Given the description of an element on the screen output the (x, y) to click on. 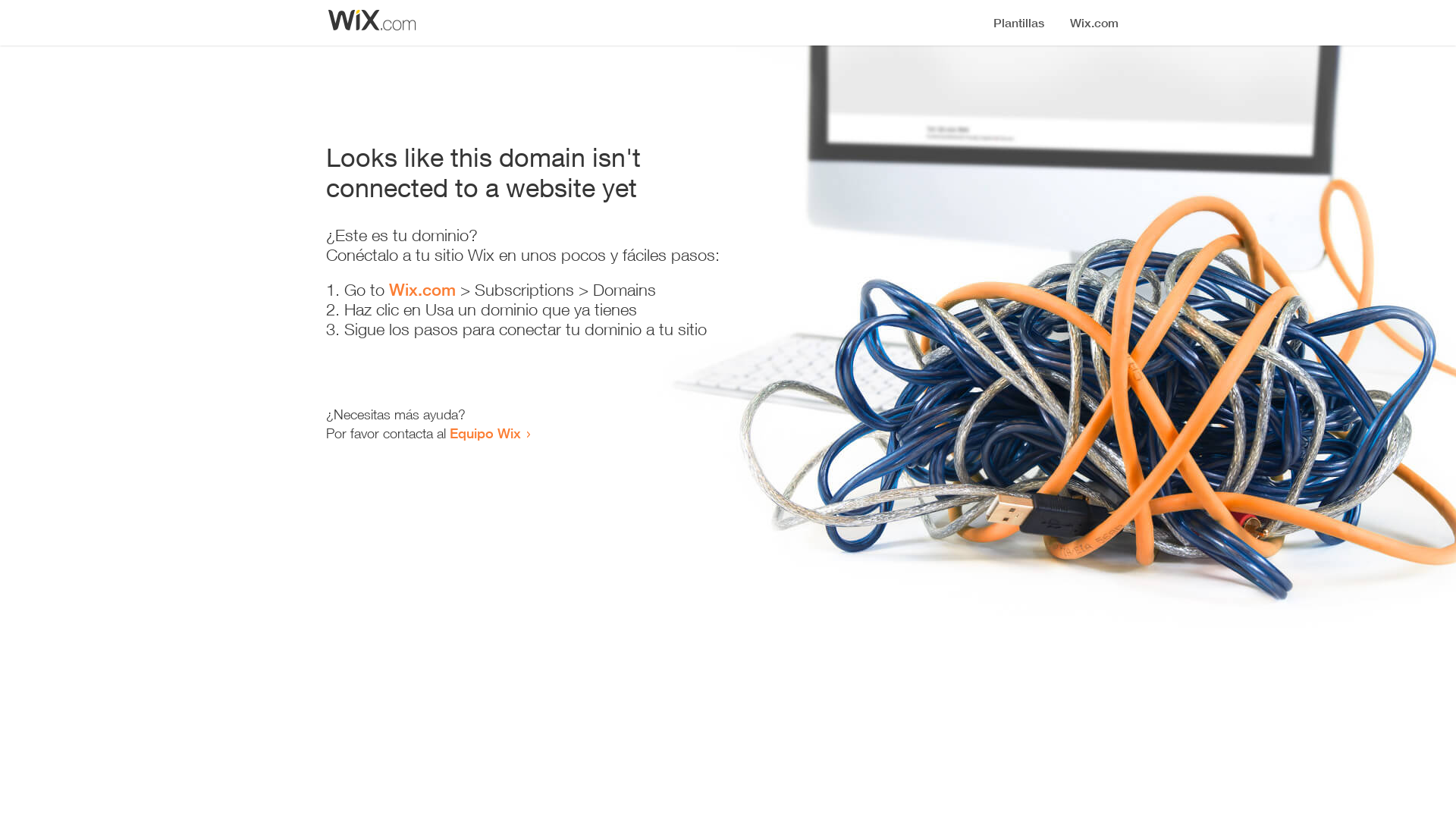
Wix.com Element type: text (422, 289)
Equipo Wix Element type: text (484, 432)
